Given the description of an element on the screen output the (x, y) to click on. 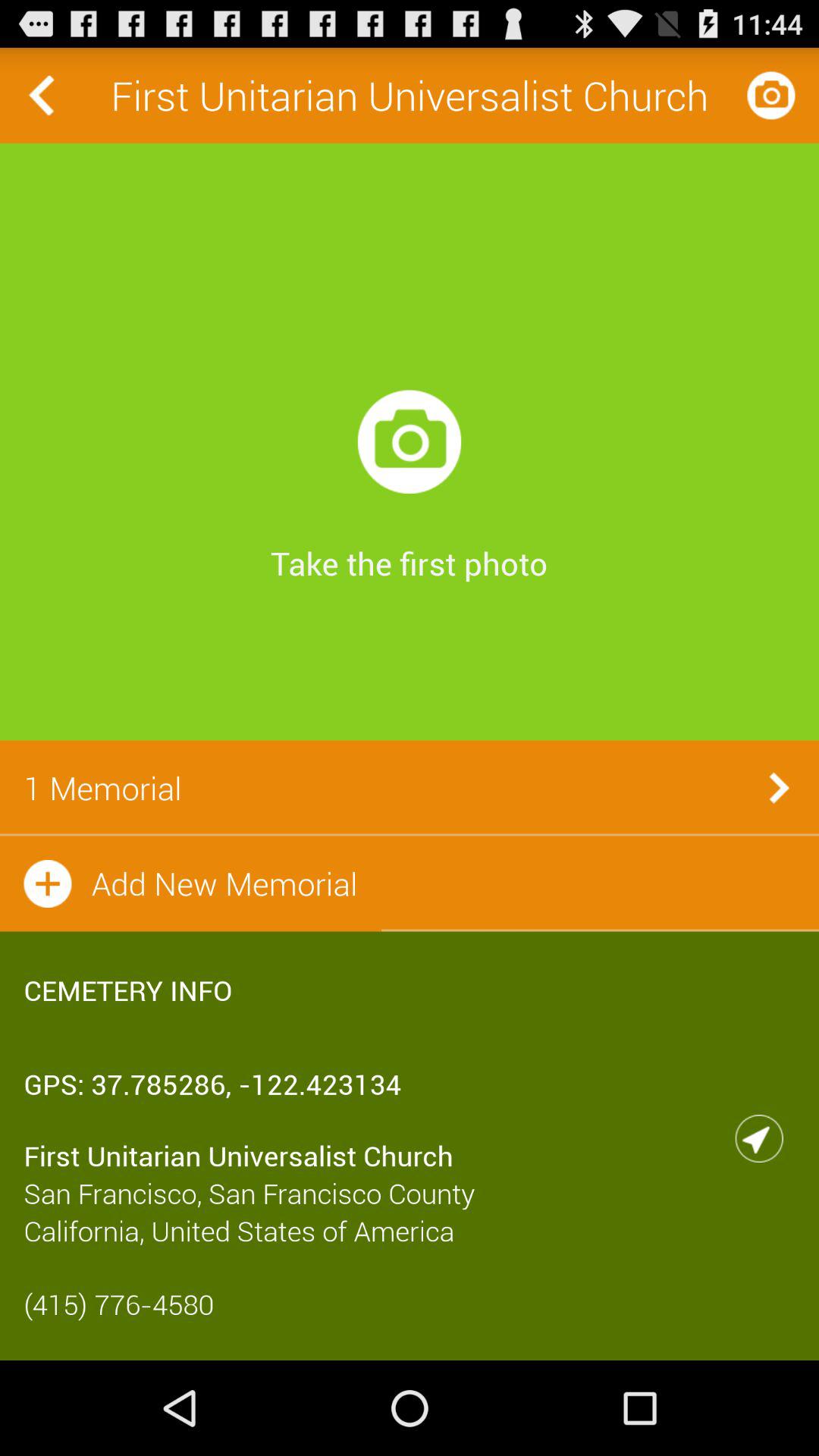
scroll to (415) 776-4580 item (409, 1303)
